Given the description of an element on the screen output the (x, y) to click on. 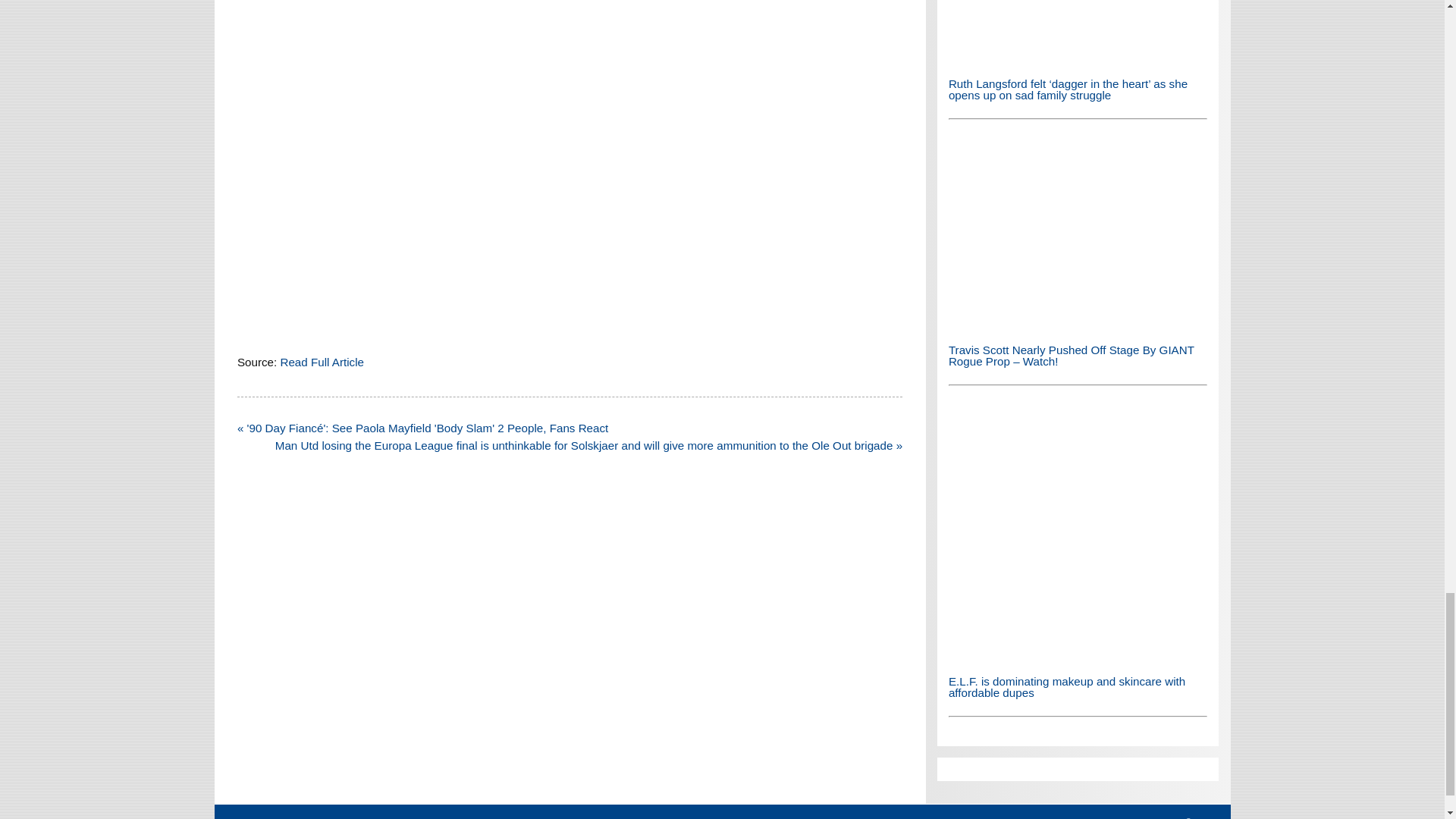
Read Full Article (321, 361)
